Given the description of an element on the screen output the (x, y) to click on. 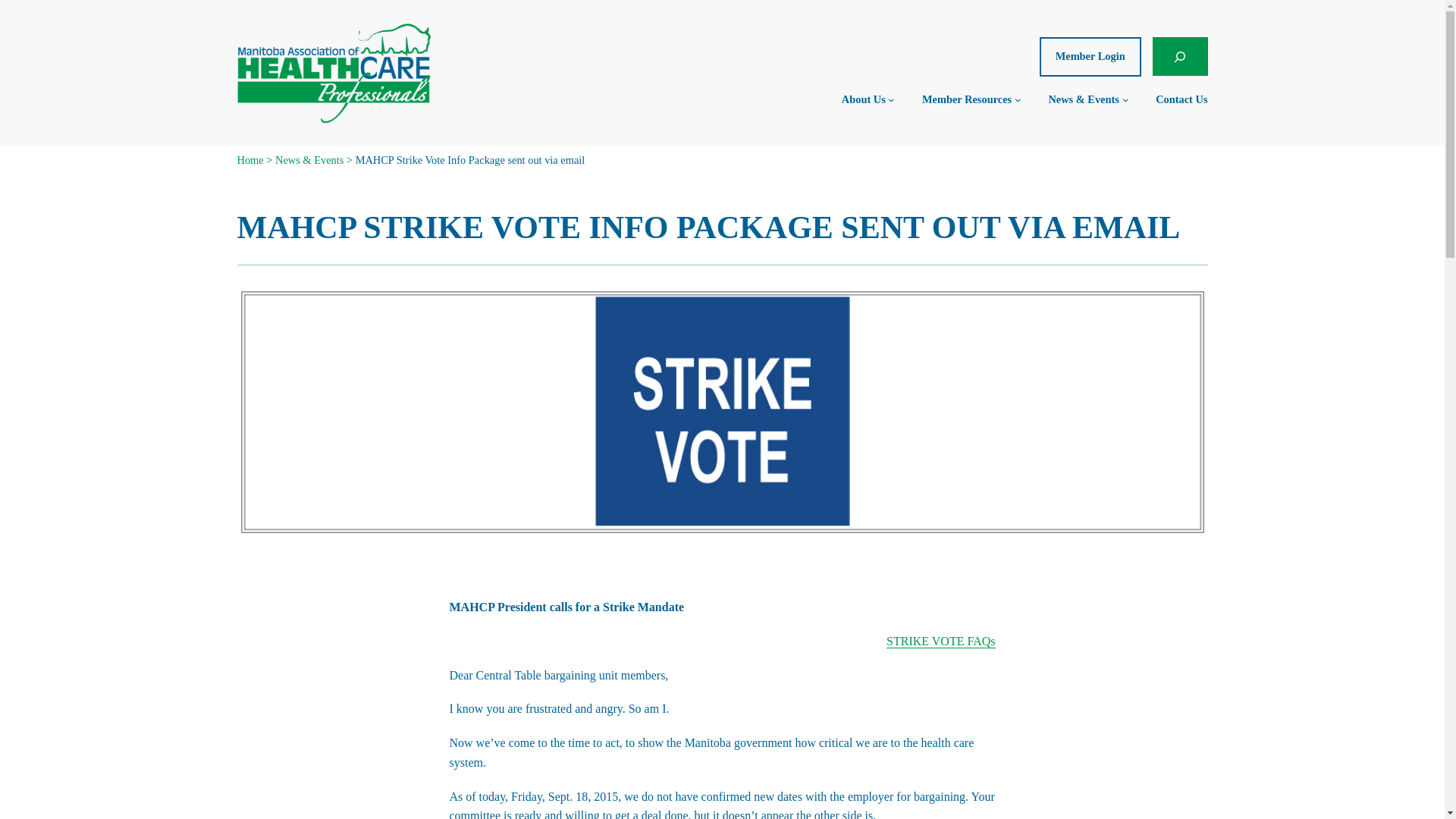
Member Resources (966, 99)
About Us (863, 99)
Member Login (1090, 56)
Contact Us (1181, 99)
